Given the description of an element on the screen output the (x, y) to click on. 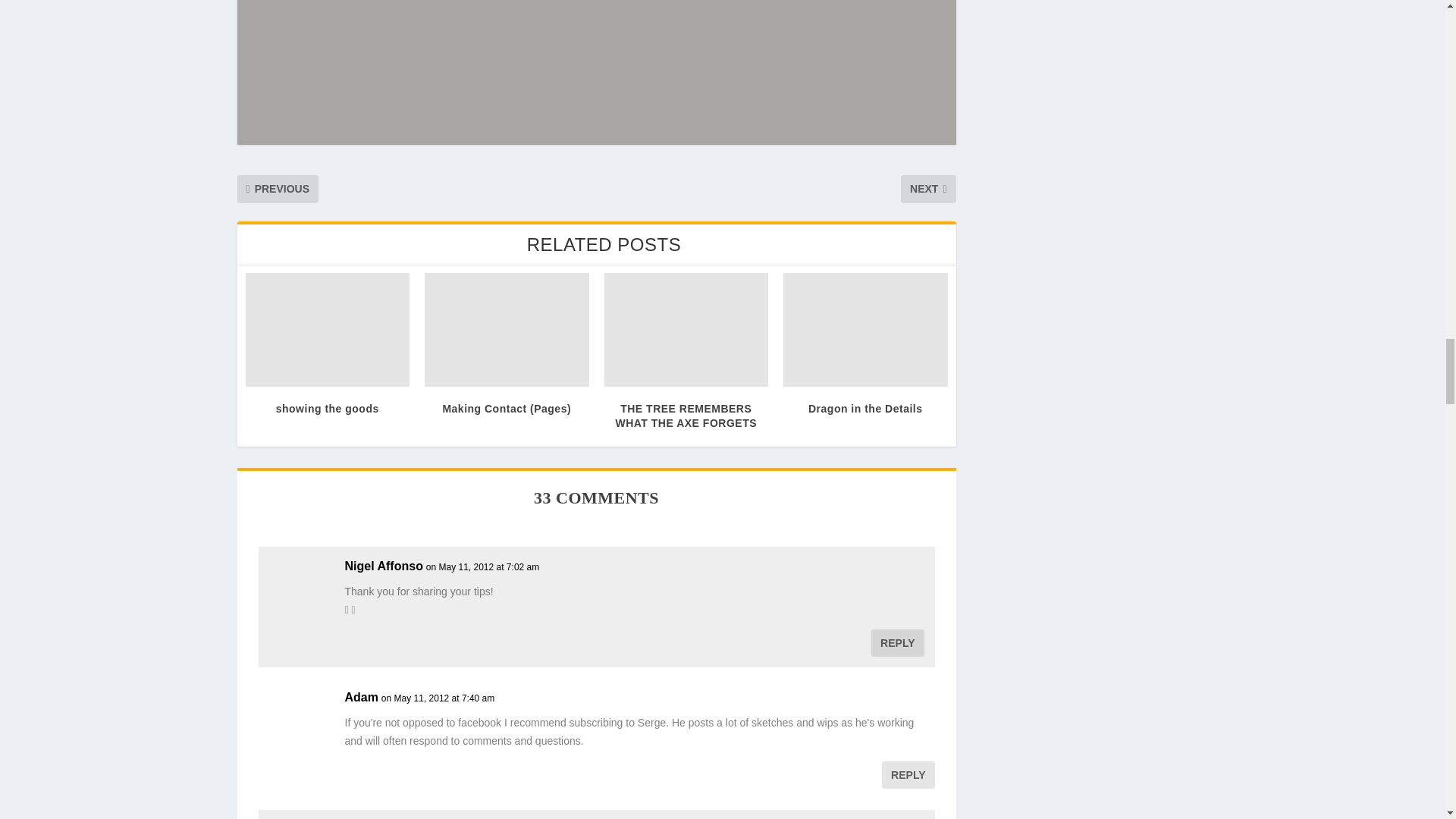
Dragon in the Details (865, 329)
THE TREE REMEMBERS WHAT THE AXE FORGETS (686, 329)
showing the goods (328, 329)
